Given the description of an element on the screen output the (x, y) to click on. 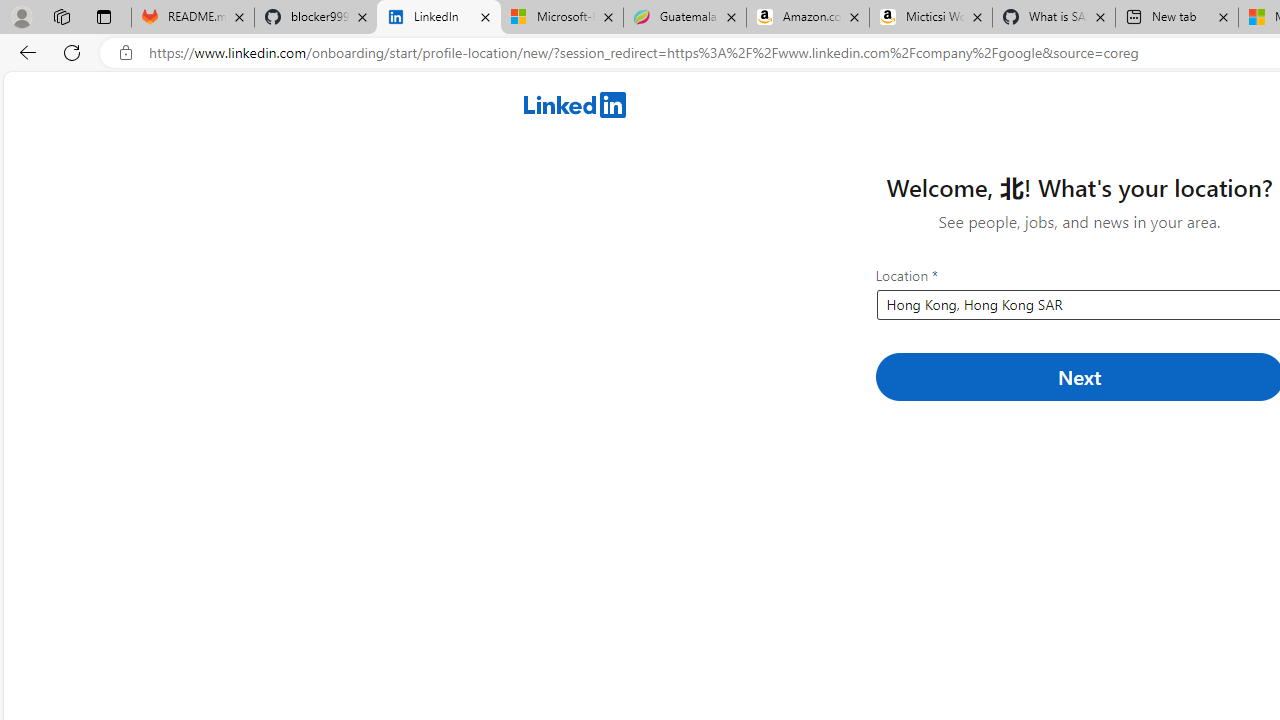
LinkedIn (438, 17)
